Given the description of an element on the screen output the (x, y) to click on. 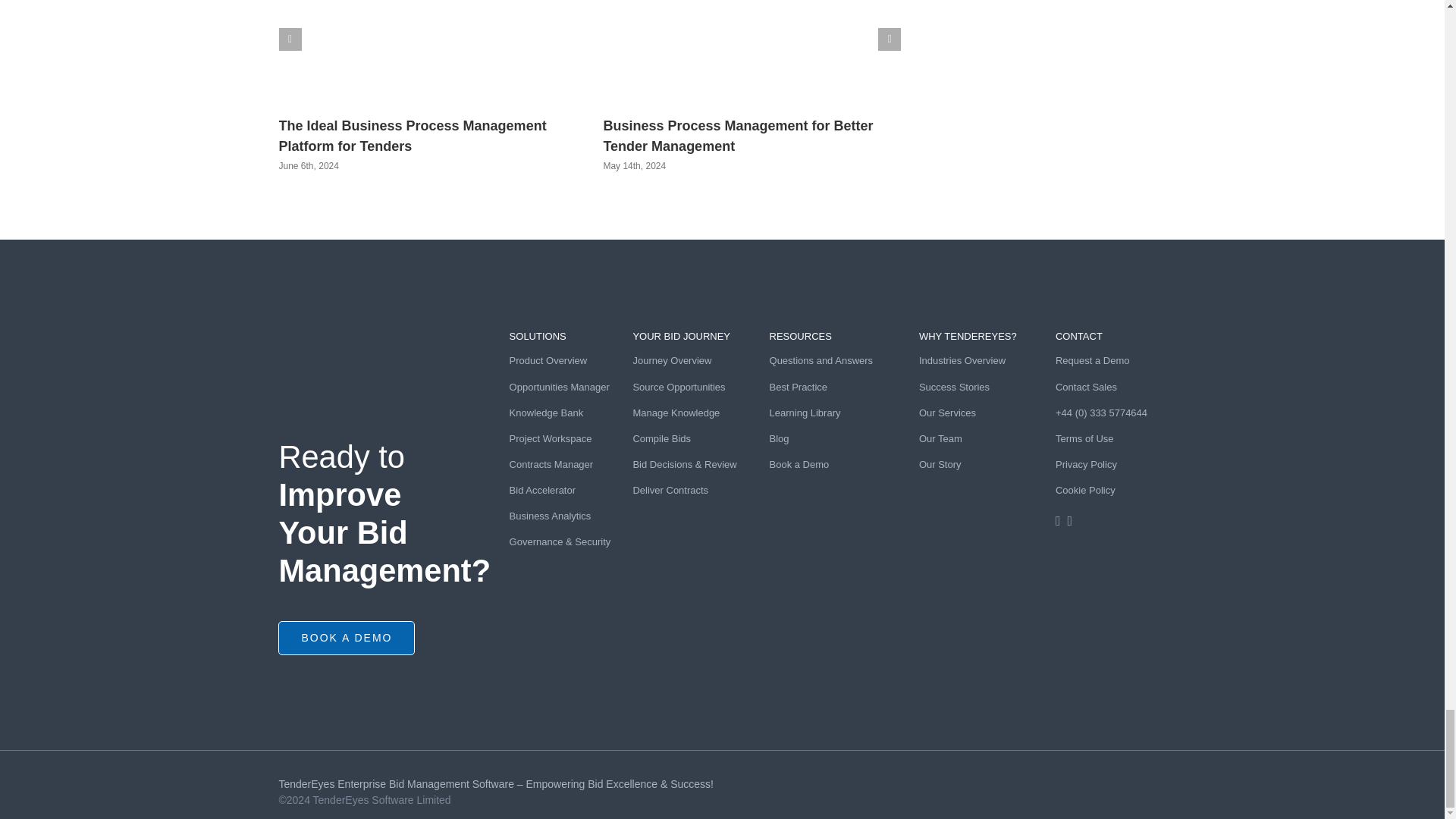
Business Process Management for Better Tender Management (737, 135)
The Ideal Business Process Management Platform for Tenders (413, 135)
